Given the description of an element on the screen output the (x, y) to click on. 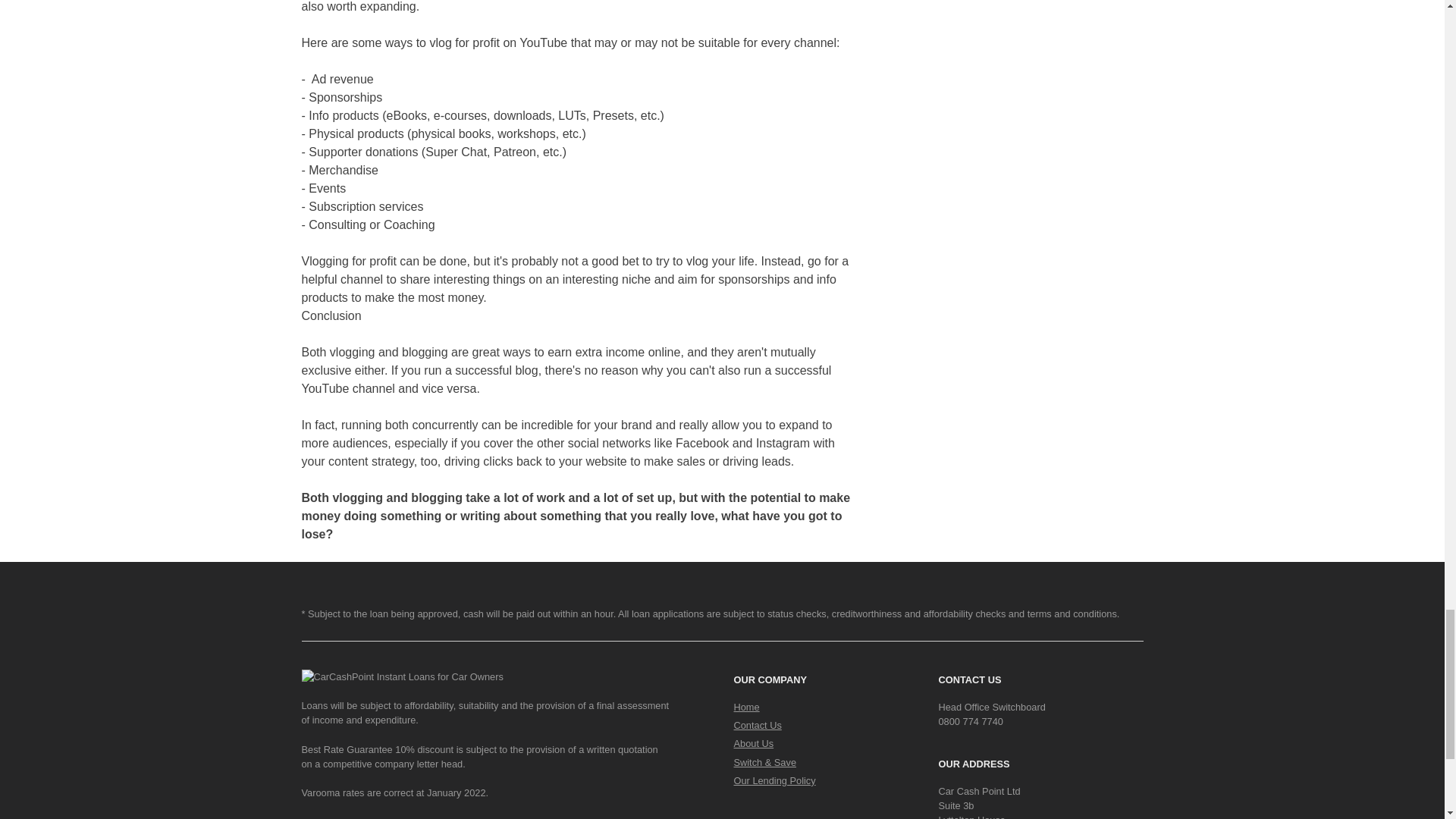
About Us (753, 743)
Contact Us (757, 725)
Our Lending Policy (774, 780)
Home (746, 706)
